Given the description of an element on the screen output the (x, y) to click on. 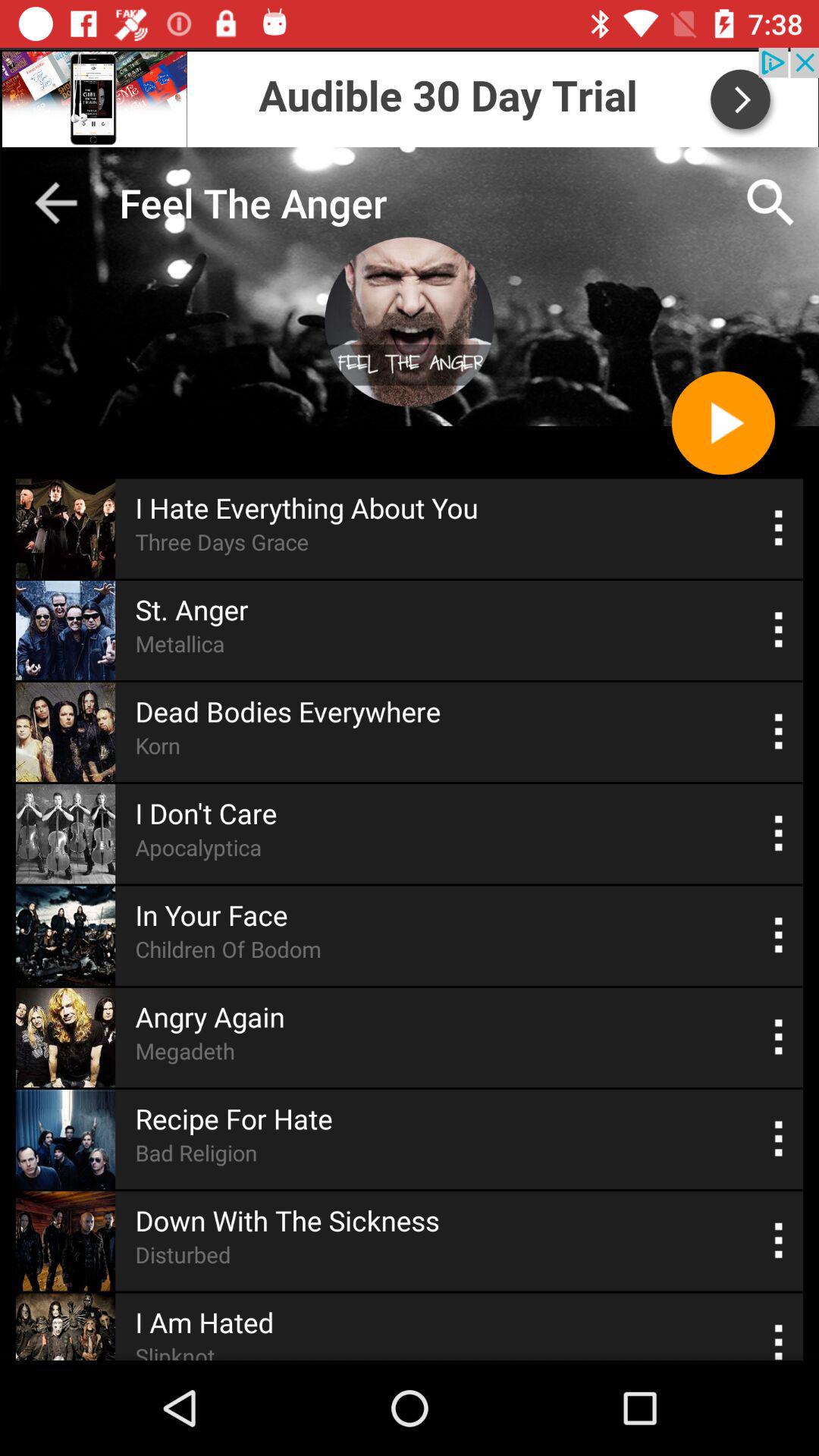
more options (779, 833)
